Given the description of an element on the screen output the (x, y) to click on. 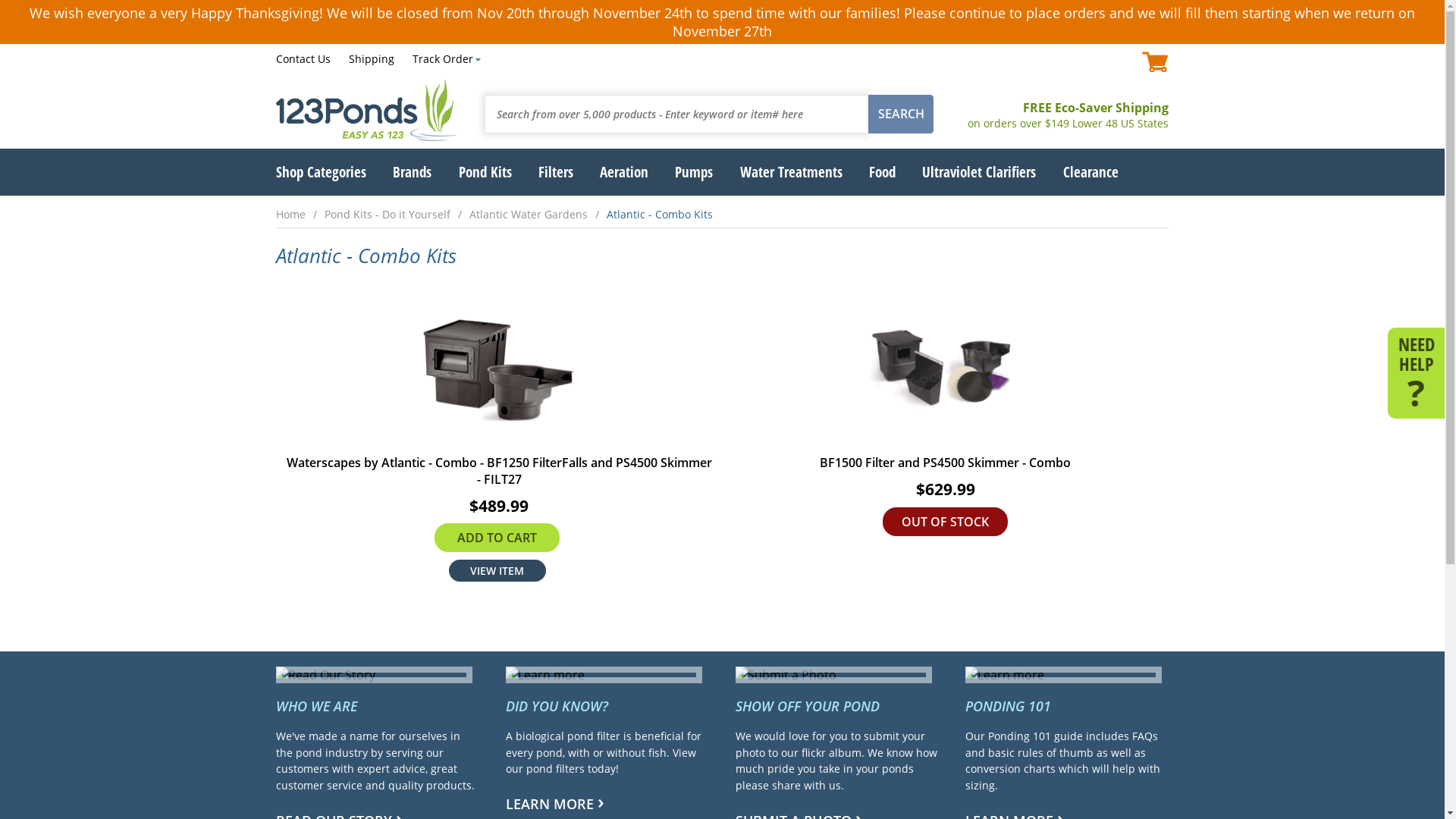
Filters Element type: text (555, 171)
LEARN MORE Element type: text (607, 801)
Ultraviolet Clarifiers Element type: text (978, 171)
VIEW ITEM Element type: text (497, 570)
Pond Kits - Do it Yourself Element type: text (396, 214)
Brands Element type: text (411, 171)
SEARCH Element type: text (900, 113)
ADD TO CART Element type: text (496, 537)
BF1500 Filter and PS4500 Skimmer - Combo Element type: text (945, 381)
Home Element type: text (300, 214)
Shipping Element type: text (371, 58)
Clearance Element type: text (1090, 171)
NEED HELP
? Element type: text (1416, 371)
Track Order Element type: text (446, 58)
OUT OF STOCK Element type: text (944, 521)
Contact Us Element type: text (303, 58)
Water Treatments Element type: text (791, 171)
Aeration Element type: text (623, 171)
Food Element type: text (882, 171)
Pond Kits Element type: text (484, 171)
Atlantic Water Gardens Element type: text (537, 214)
123Ponds.com Element type: text (367, 110)
Shop Categories Element type: text (321, 171)
Pumps Element type: text (693, 171)
